Given the description of an element on the screen output the (x, y) to click on. 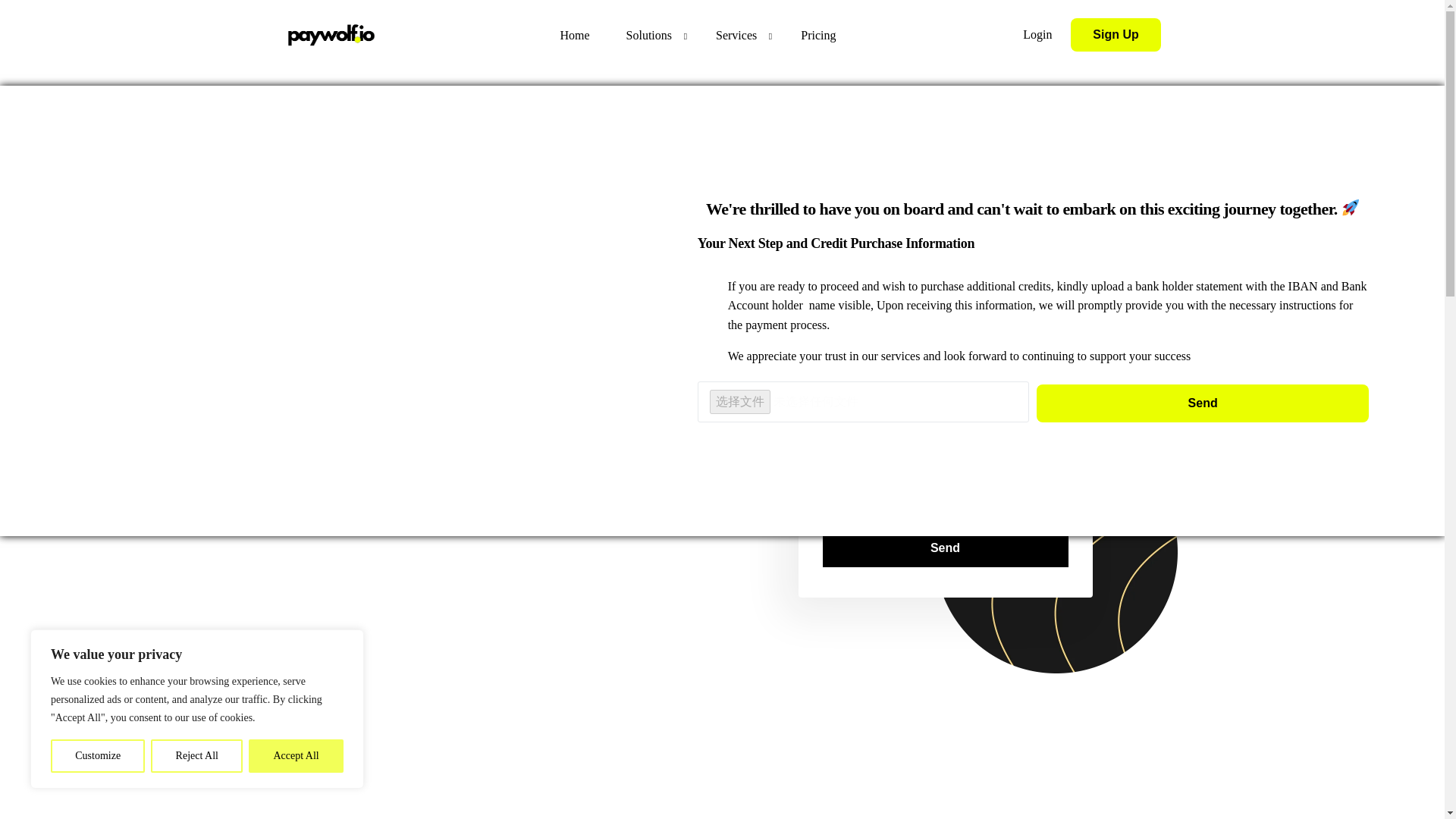
Accept All (295, 756)
Customize (97, 756)
Login (1037, 33)
Solutions (652, 34)
Send (1202, 403)
Services (740, 34)
Pricing (818, 34)
Reject All (197, 756)
Home (574, 34)
Sign Up (1115, 34)
Send (944, 548)
